Given the description of an element on the screen output the (x, y) to click on. 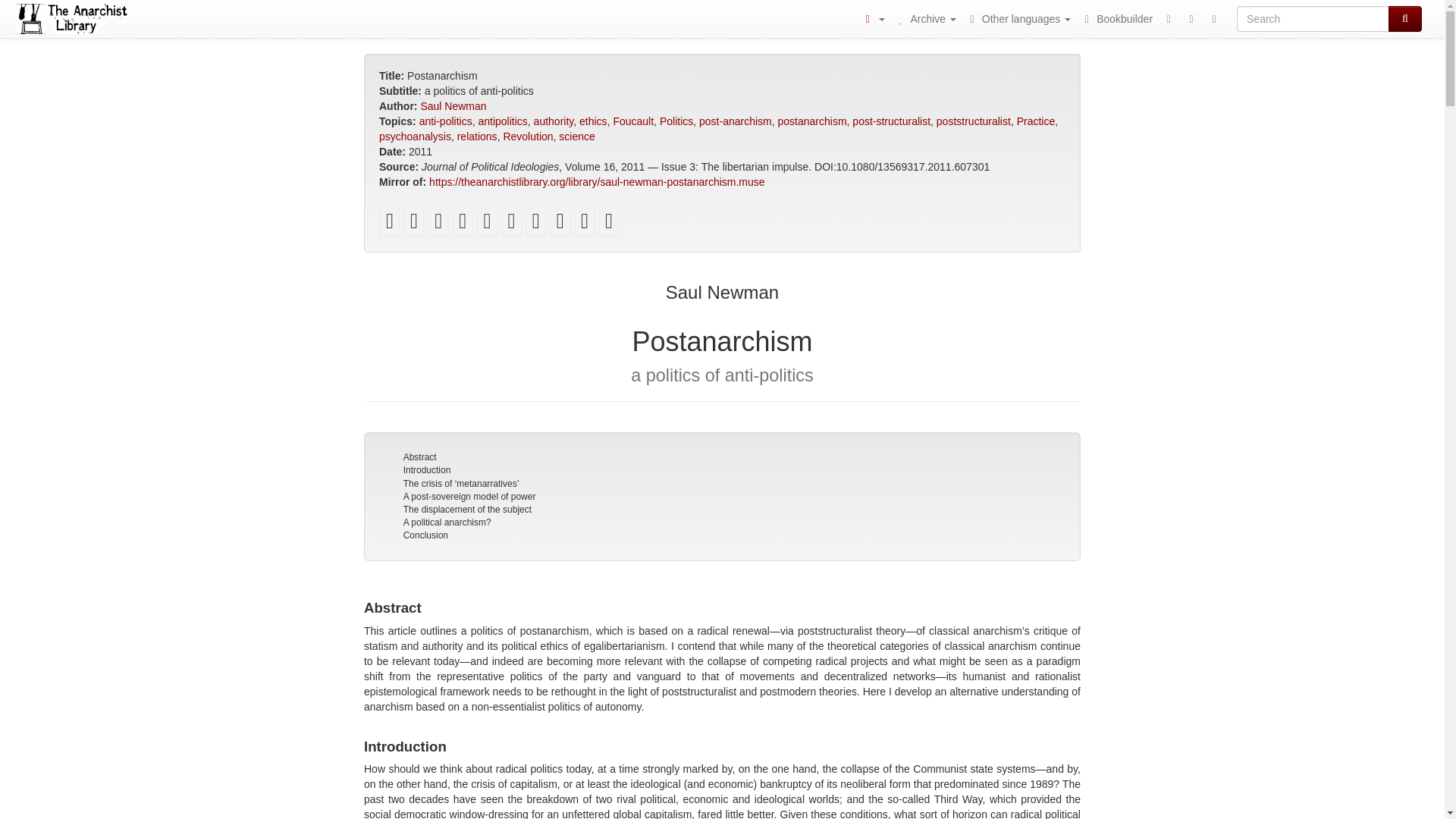
Search (1405, 18)
Bookbuilder (1116, 18)
texts by authors, title, topic... (924, 18)
Archive (924, 18)
Other languages (1017, 18)
Other languages (1017, 18)
Saul Newman (453, 105)
Bookbuilder (1116, 18)
